Given the description of an element on the screen output the (x, y) to click on. 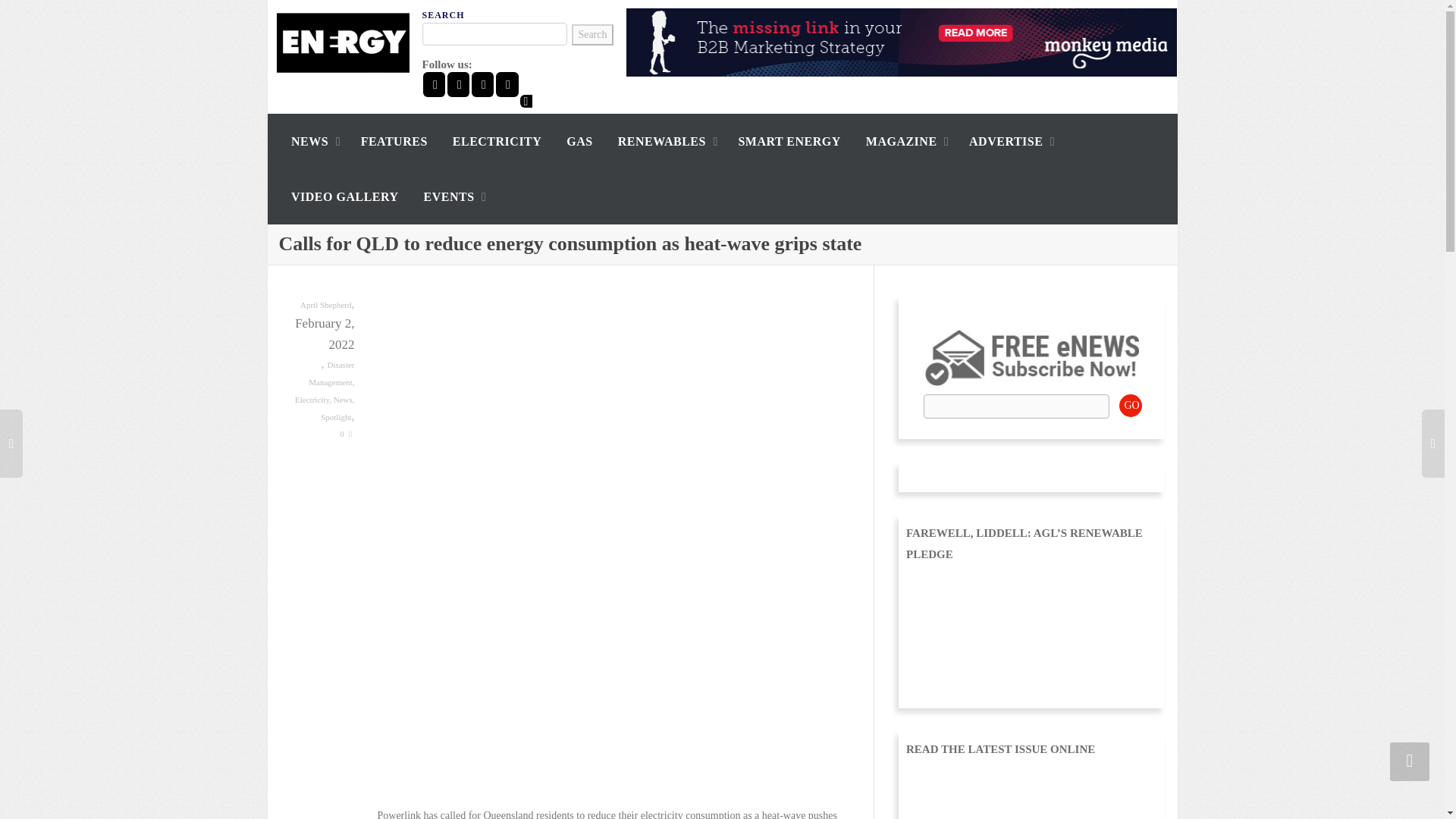
Search (592, 34)
Energy Magazine (342, 42)
EVENTS (452, 196)
ELECTRICITY (496, 140)
Smart Energy (789, 140)
April Shepherd (325, 304)
MAGAZINE (904, 140)
Electricity (496, 140)
Go (1130, 404)
Search (592, 34)
